Given the description of an element on the screen output the (x, y) to click on. 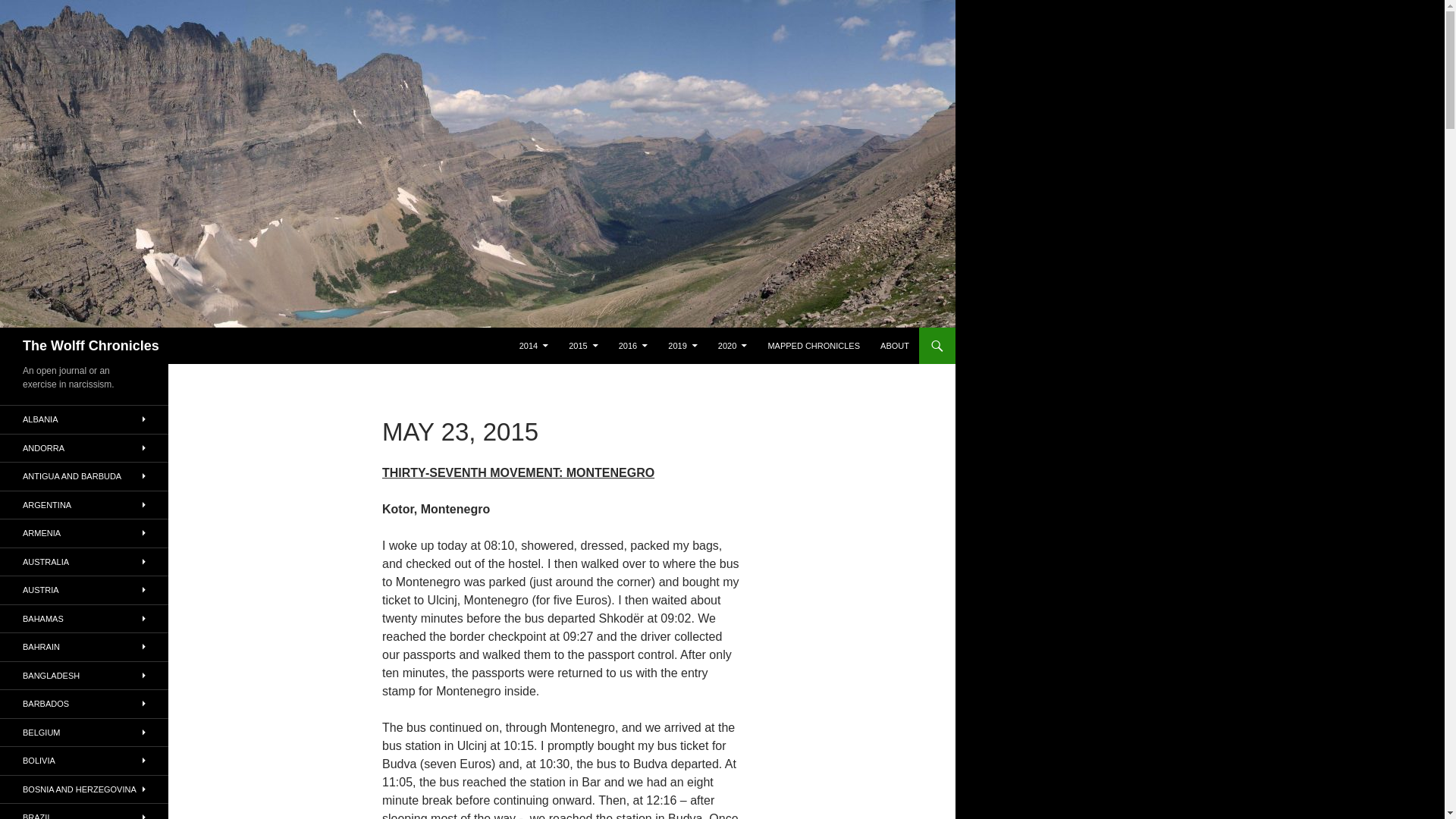
2019 (682, 345)
The Wolff Chronicles (90, 345)
2015 (583, 345)
2016 (633, 345)
2020 (732, 345)
MAPPED CHRONICLES (813, 345)
2014 (534, 345)
